Given the description of an element on the screen output the (x, y) to click on. 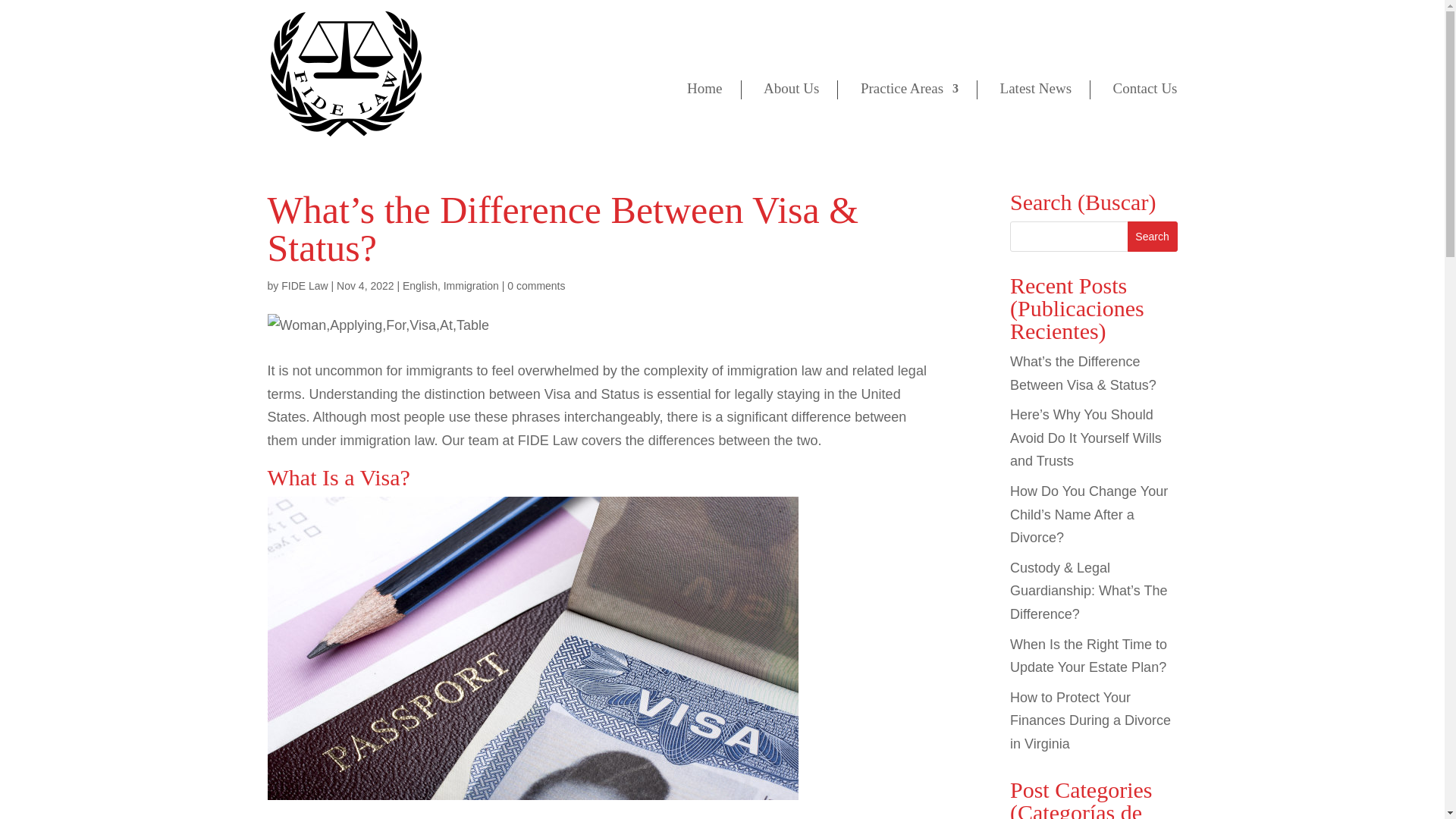
Search (1151, 236)
How to Protect Your Finances During a Divorce in Virginia (1090, 720)
Immigration (471, 285)
When Is the Right Time to Update Your Estate Plan? (1088, 656)
Search (1151, 236)
0 comments (535, 285)
English (420, 285)
FIDE Law (304, 285)
Practice Areas (909, 122)
Posts by FIDE Law (304, 285)
